Given the description of an element on the screen output the (x, y) to click on. 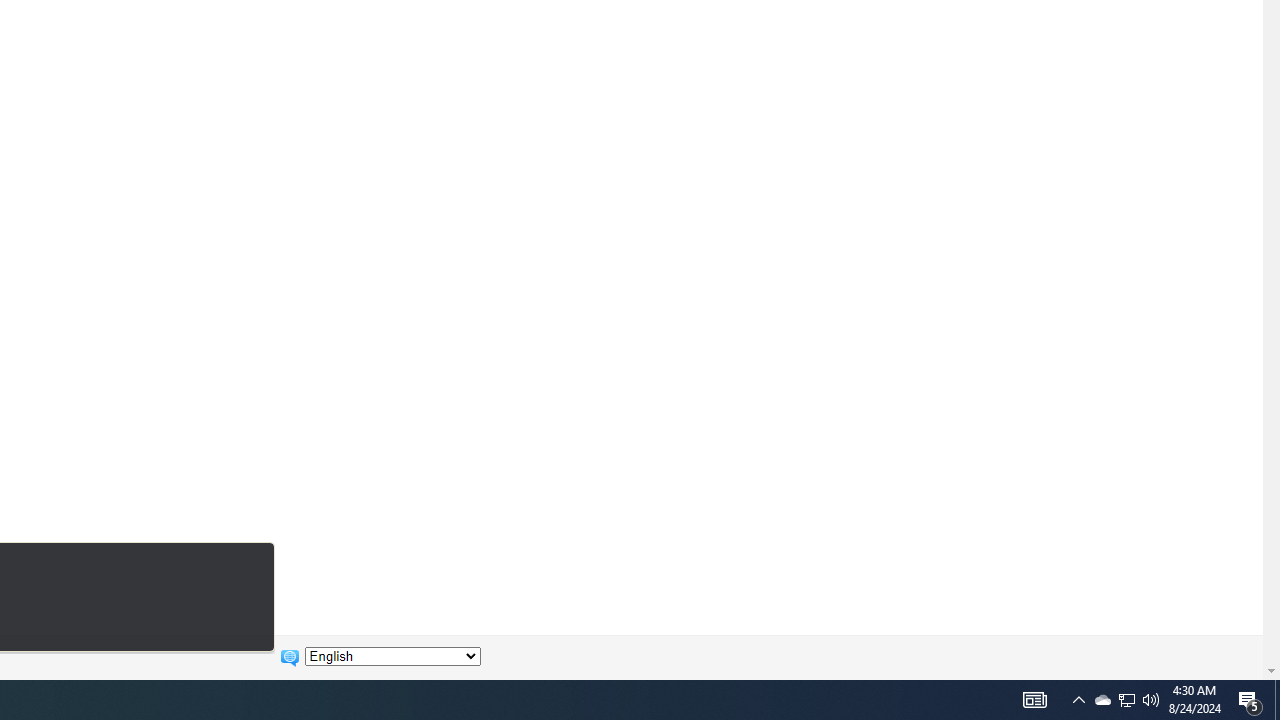
Change language: (392, 656)
